Given the description of an element on the screen output the (x, y) to click on. 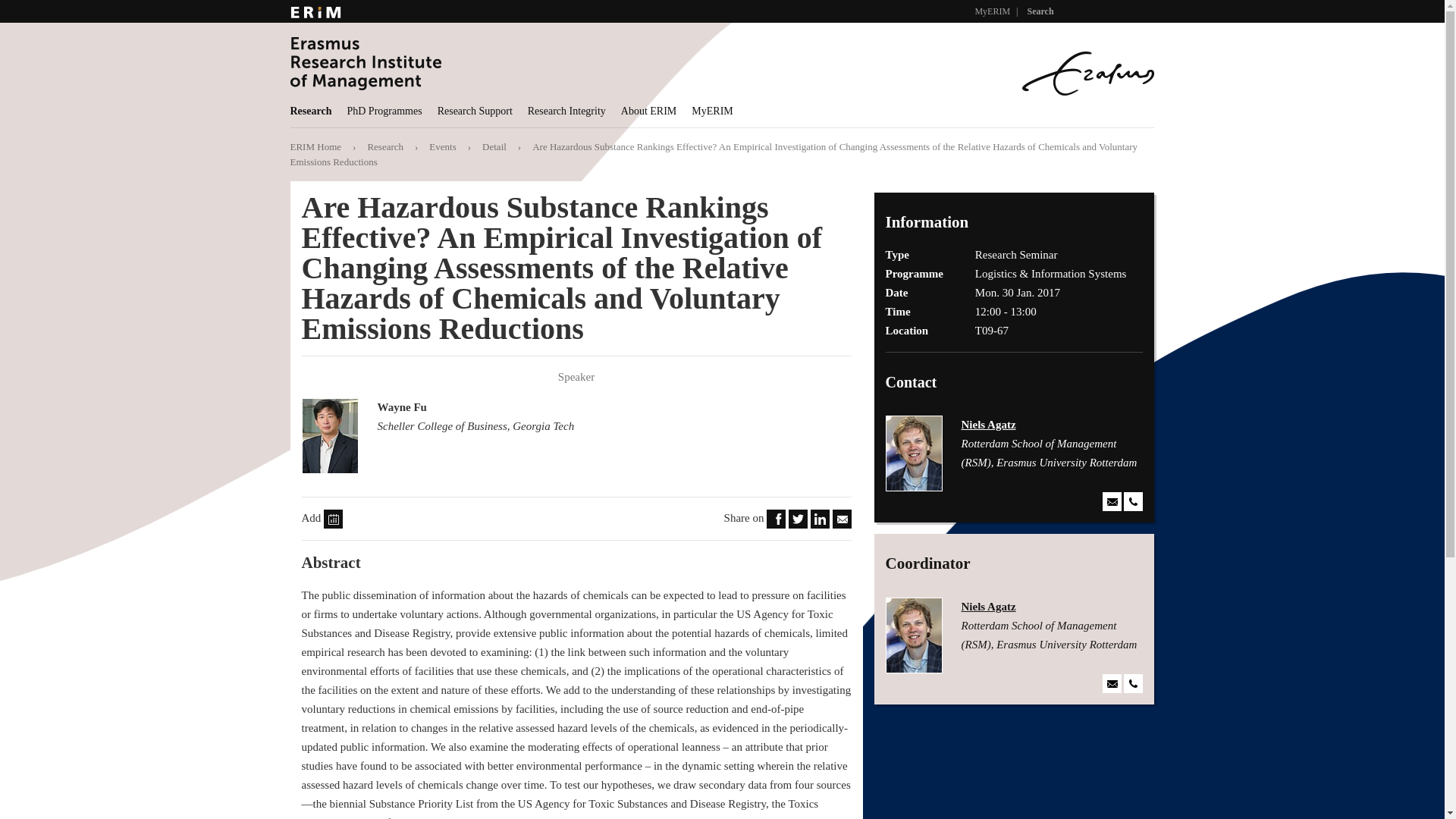
Add to Calendar (332, 518)
Go to: Research (384, 146)
Erasmus Research Institute of Management - ERIM (539, 62)
MyERIM (992, 10)
LinkedIn (819, 518)
Email this event (841, 518)
Email (841, 518)
Back to the ERIM homepage (314, 146)
Go to: Events (442, 146)
Research (314, 110)
